Given the description of an element on the screen output the (x, y) to click on. 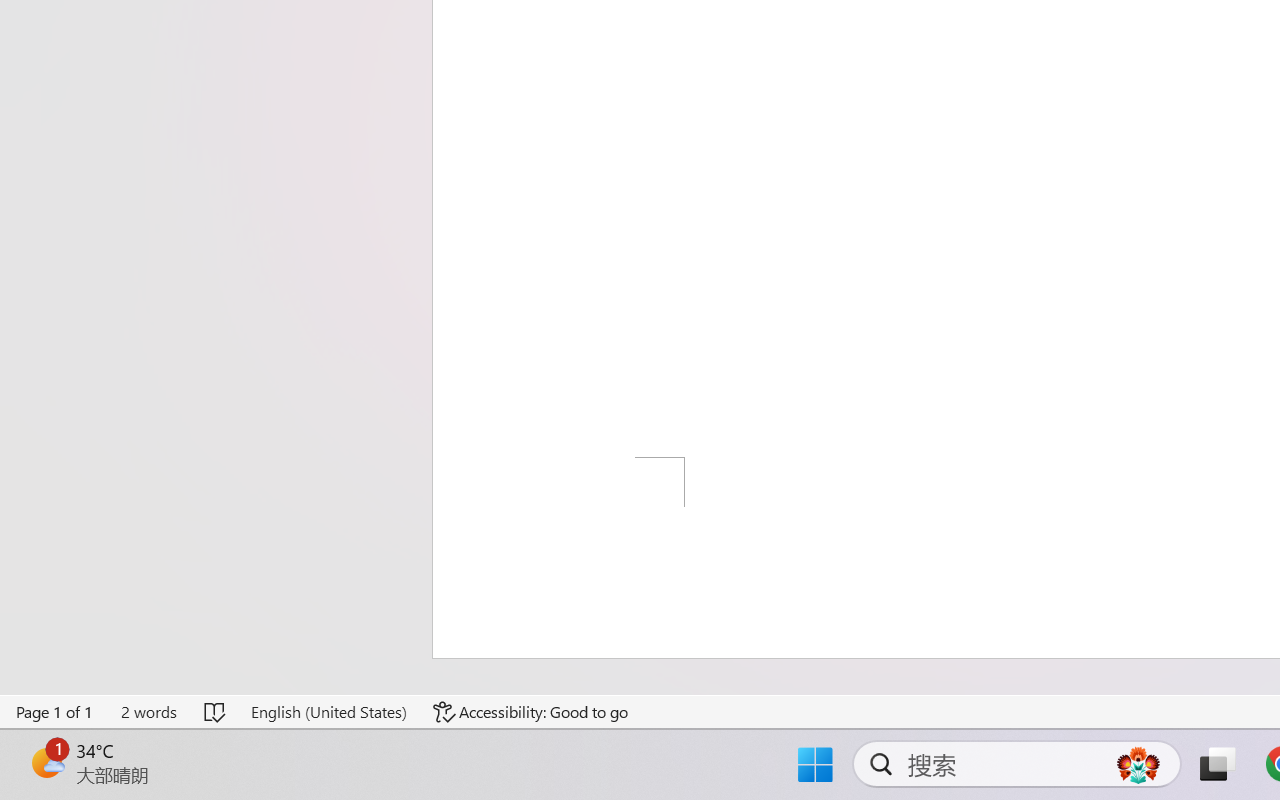
AutomationID: BadgeAnchorLargeTicker (46, 762)
Language English (United States) (328, 712)
Page Number Page 1 of 1 (55, 712)
Accessibility Checker Accessibility: Good to go (531, 712)
Spelling and Grammar Check No Errors (216, 712)
AutomationID: DynamicSearchBoxGleamImage (1138, 764)
